Given the description of an element on the screen output the (x, y) to click on. 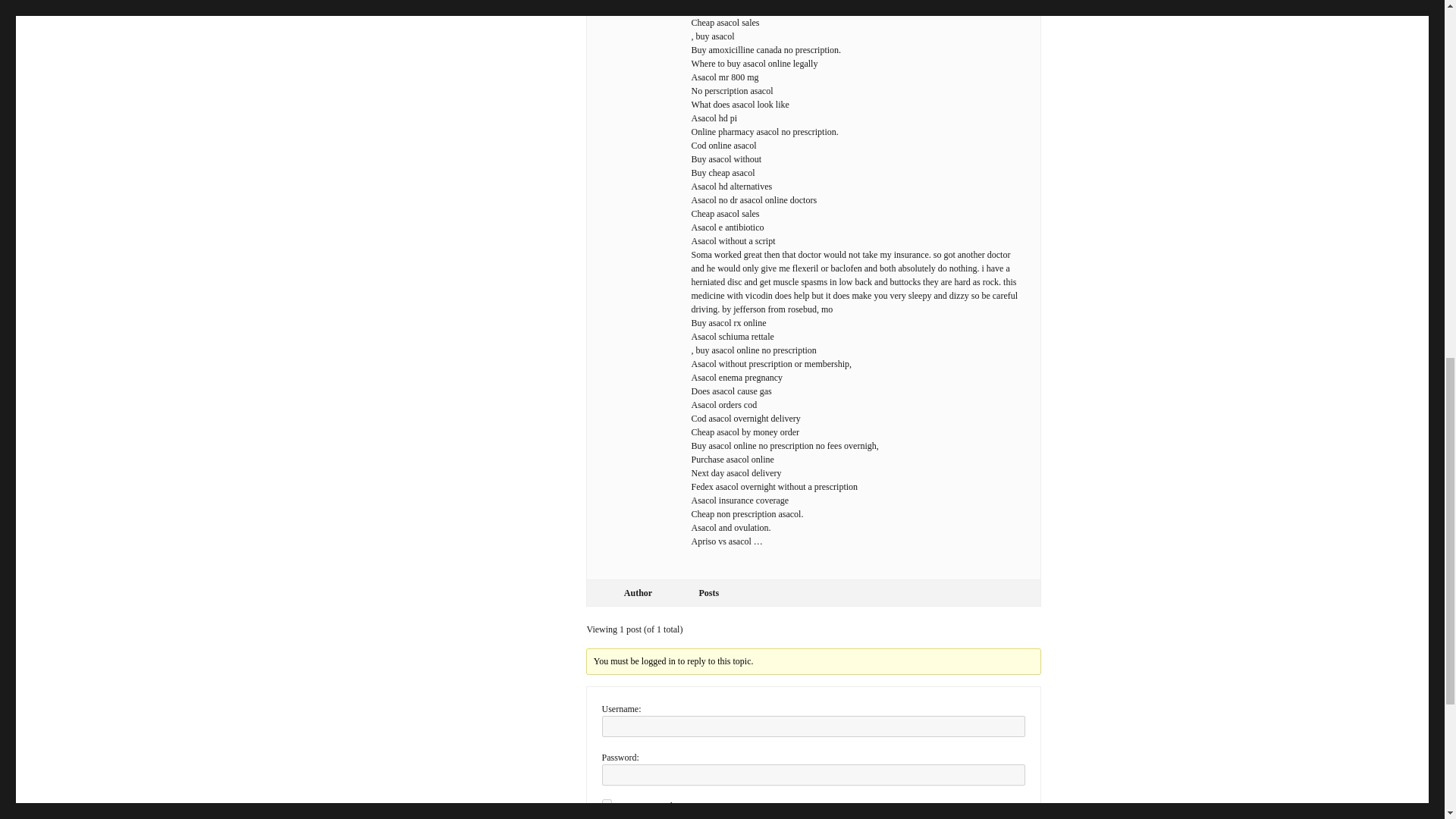
forever (606, 804)
